Given the description of an element on the screen output the (x, y) to click on. 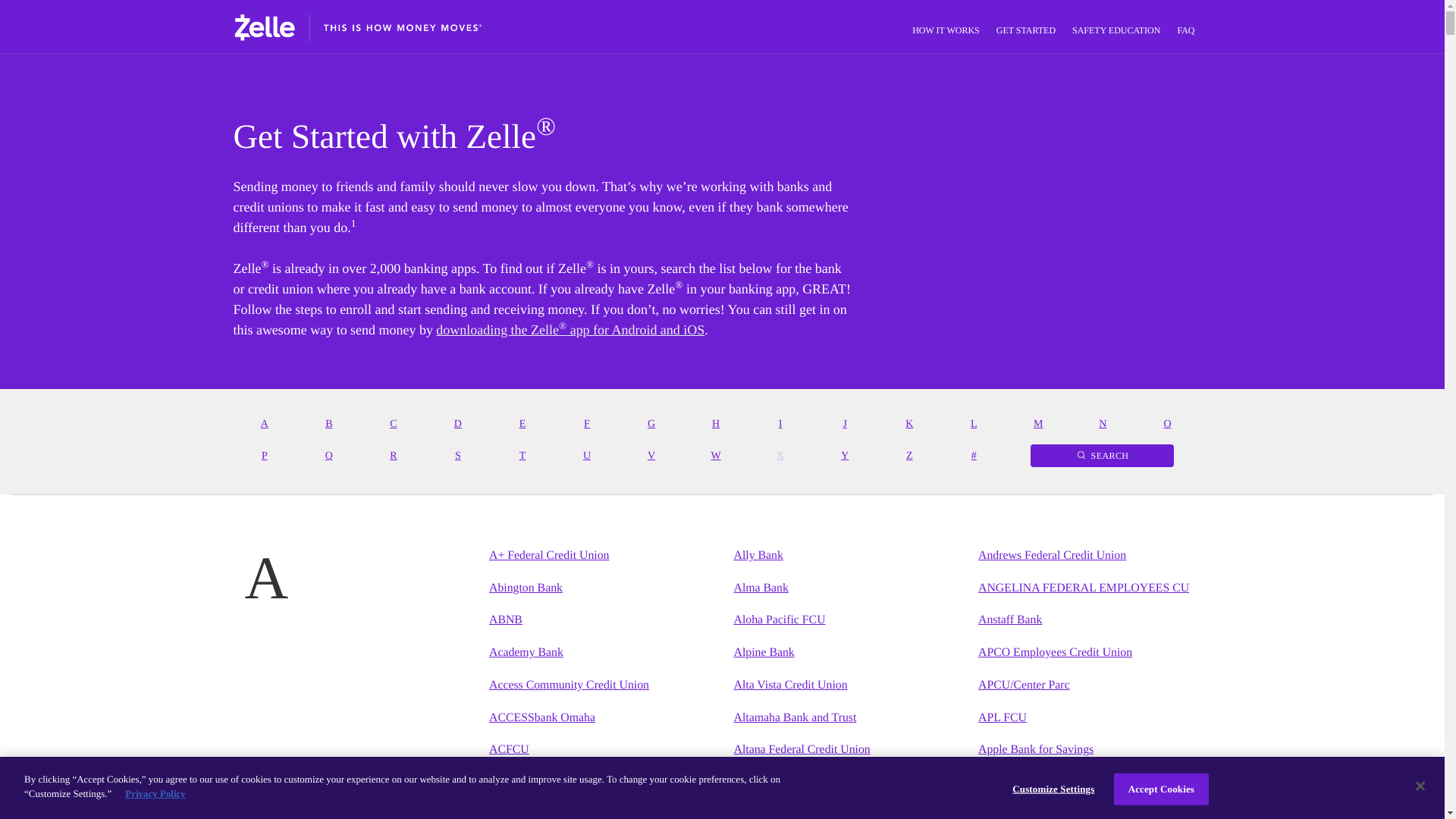
M (1038, 424)
D (457, 424)
B (329, 424)
S (457, 456)
R (393, 456)
H (716, 424)
SAFETY EDUCATION (1115, 30)
Zelle Logo Home (356, 26)
GET STARTED (1025, 30)
FAQ (1184, 30)
G (651, 424)
O (1166, 424)
C (393, 424)
P (264, 456)
L (974, 424)
